Given the description of an element on the screen output the (x, y) to click on. 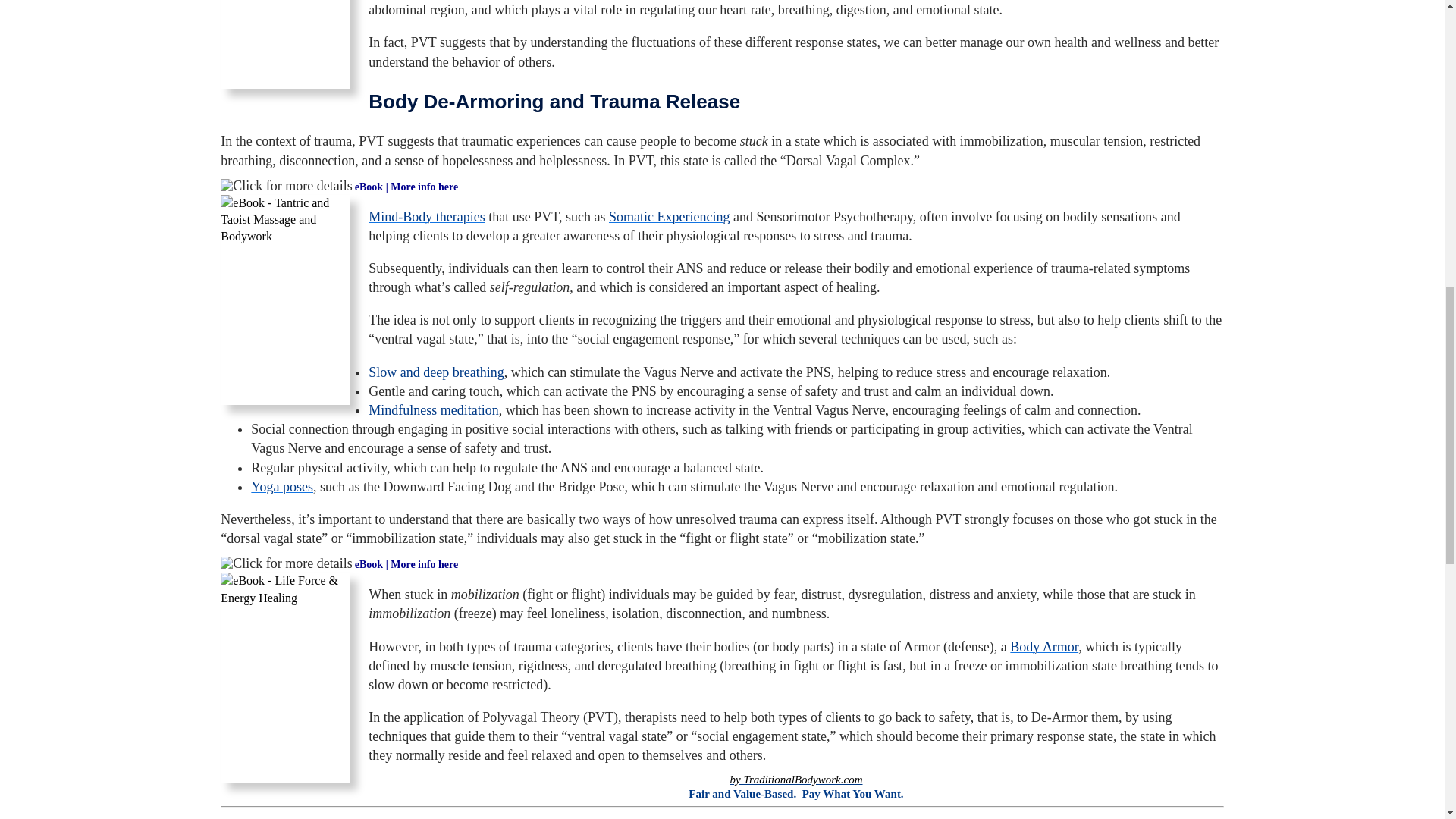
Click for more details (286, 186)
Slow and deep breathing (435, 372)
Click for more details (286, 563)
Somatic Experiencing (668, 216)
Body Armor (1044, 646)
Yoga poses (281, 486)
Mindfulness meditation (432, 409)
Mind-Body therapies (426, 216)
